Given the description of an element on the screen output the (x, y) to click on. 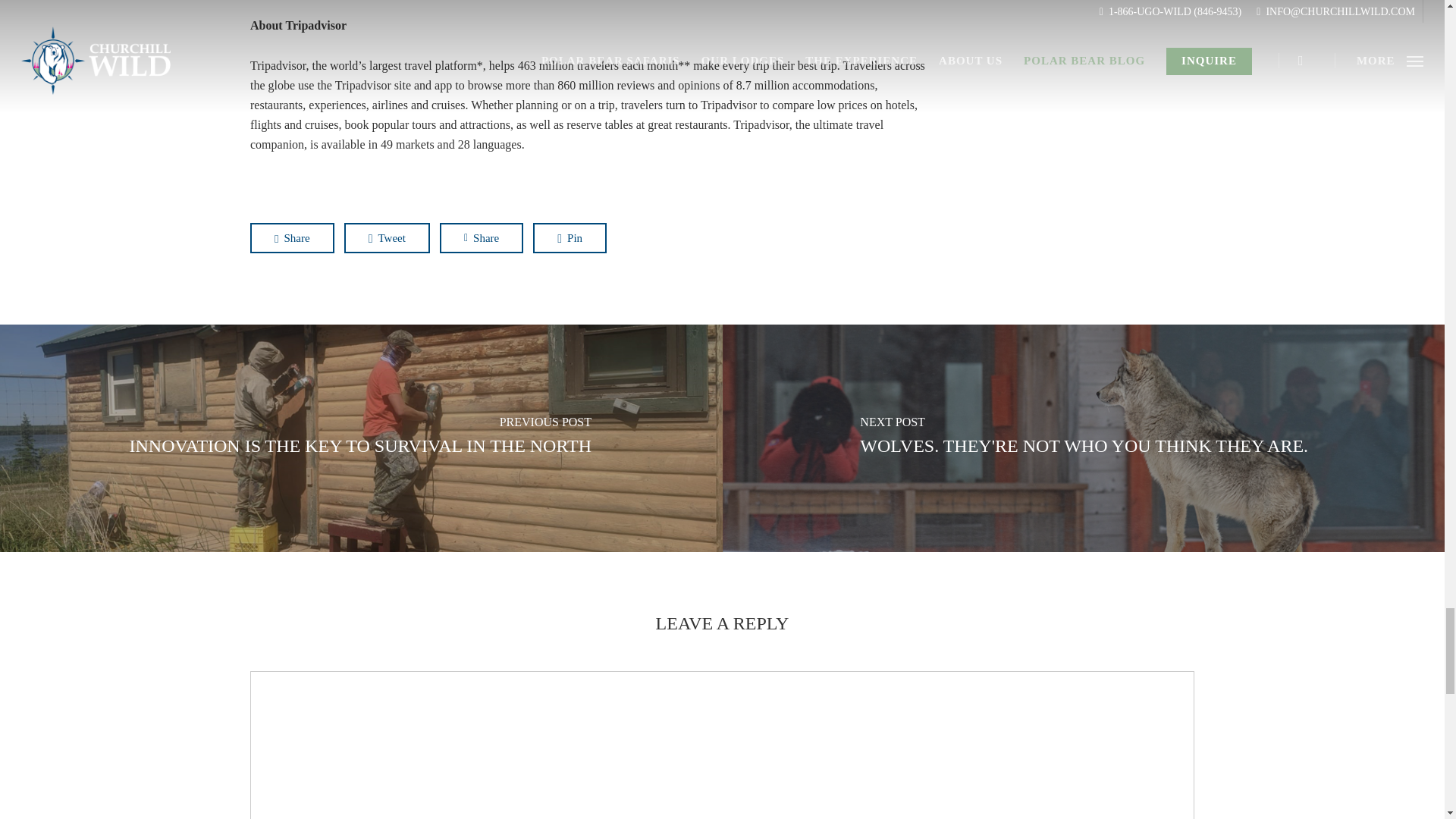
Share this (480, 237)
Share this (292, 237)
Pin this (569, 237)
Tweet this (386, 237)
